Given the description of an element on the screen output the (x, y) to click on. 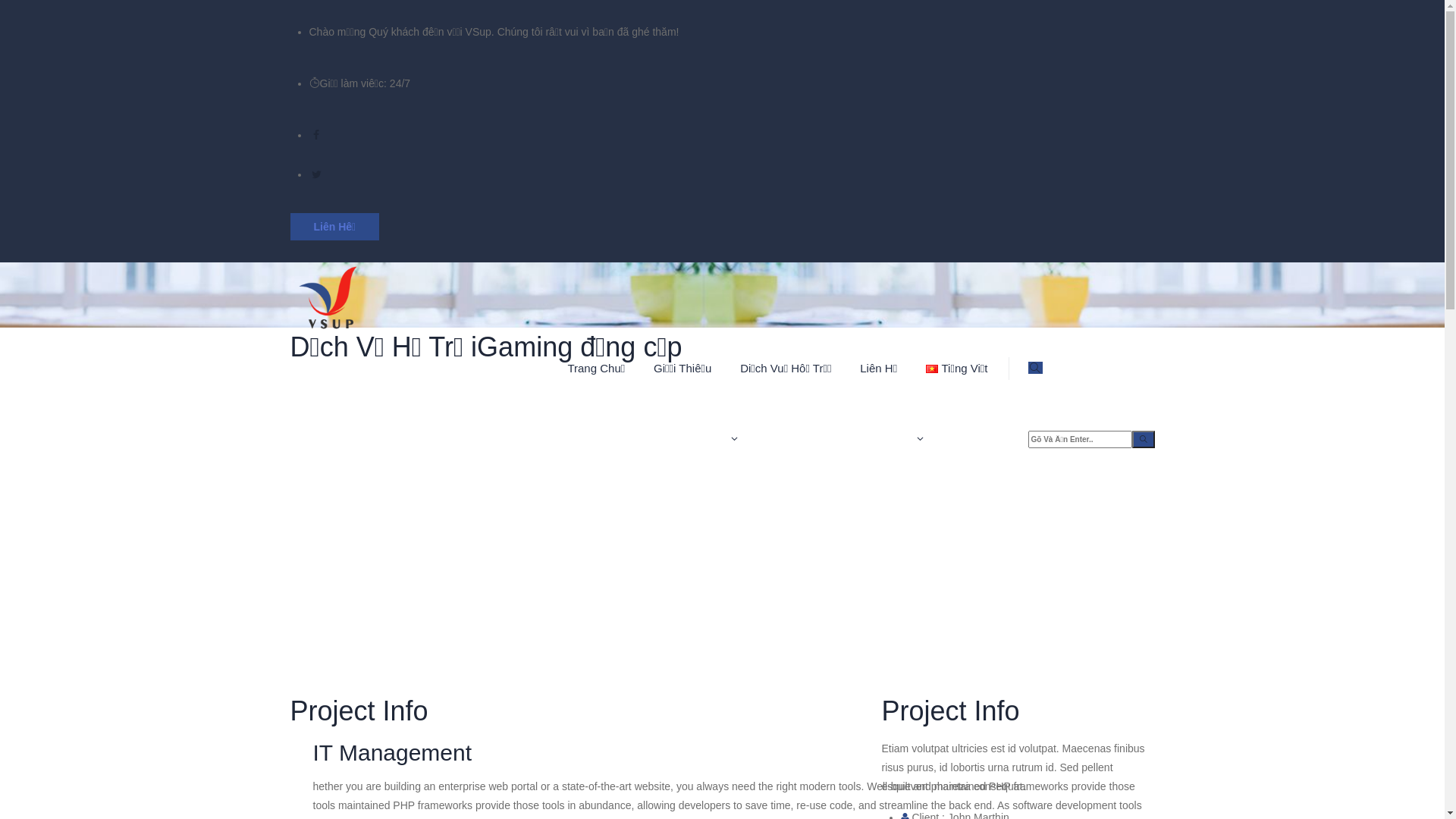
  Home Element type: text (327, 166)
Campaign Element type: text (410, 166)
VSup Element type: hover (721, 296)
Working at Envato Element type: hover (610, 507)
